Given the description of an element on the screen output the (x, y) to click on. 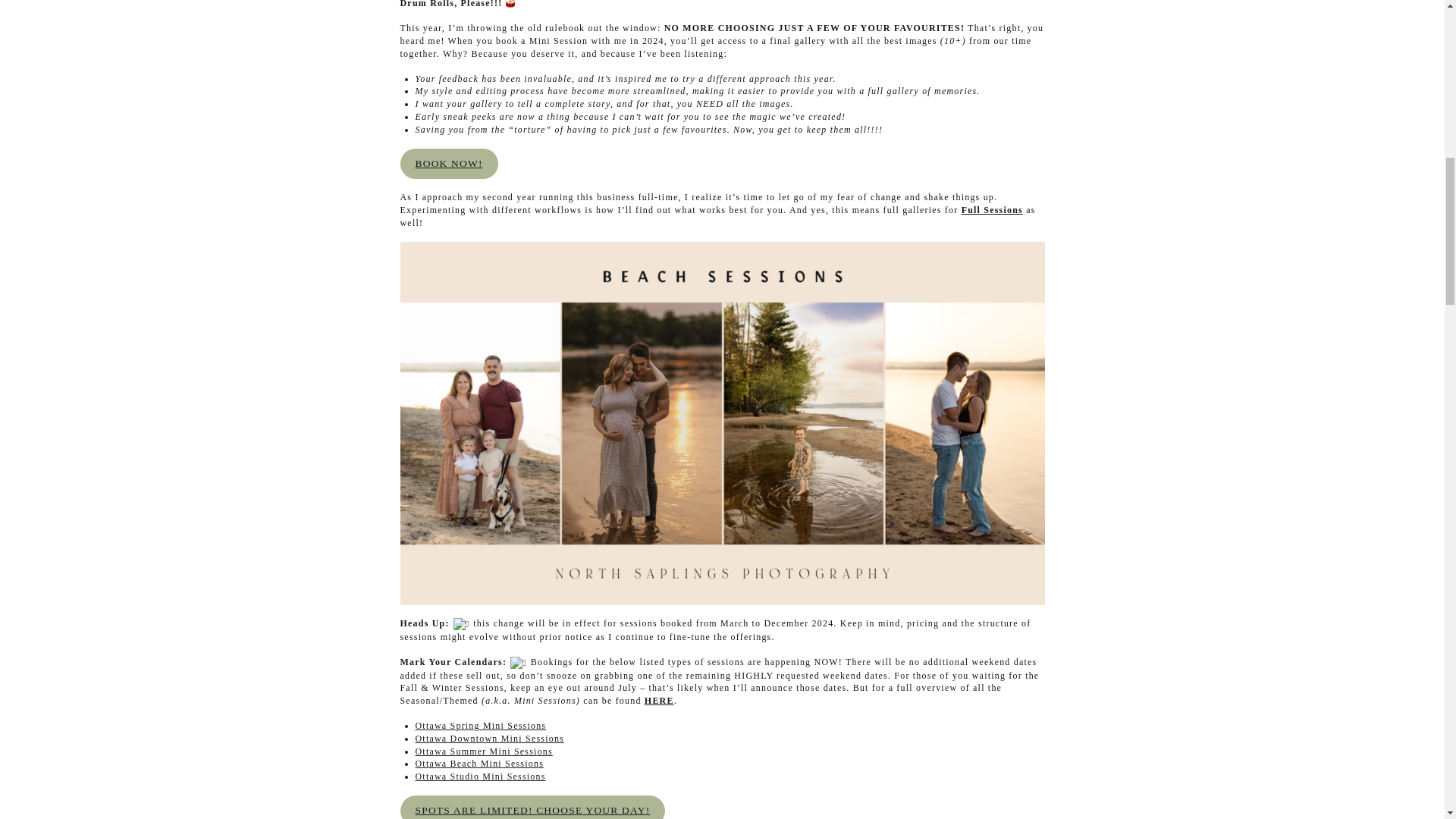
Ottawa Beach Mini Sessions (479, 763)
Ottawa Spring Mini Sessions (480, 725)
BOOK NOW! (448, 163)
Ottawa Summer Mini Sessions (483, 751)
Ottawa Downtown Mini Sessions (489, 738)
HERE (659, 700)
Ottawa Studio Mini Sessions (480, 776)
Full Sessions (991, 209)
SPOTS ARE LIMITED! CHOOSE YOUR DAY! (532, 807)
